Given the description of an element on the screen output the (x, y) to click on. 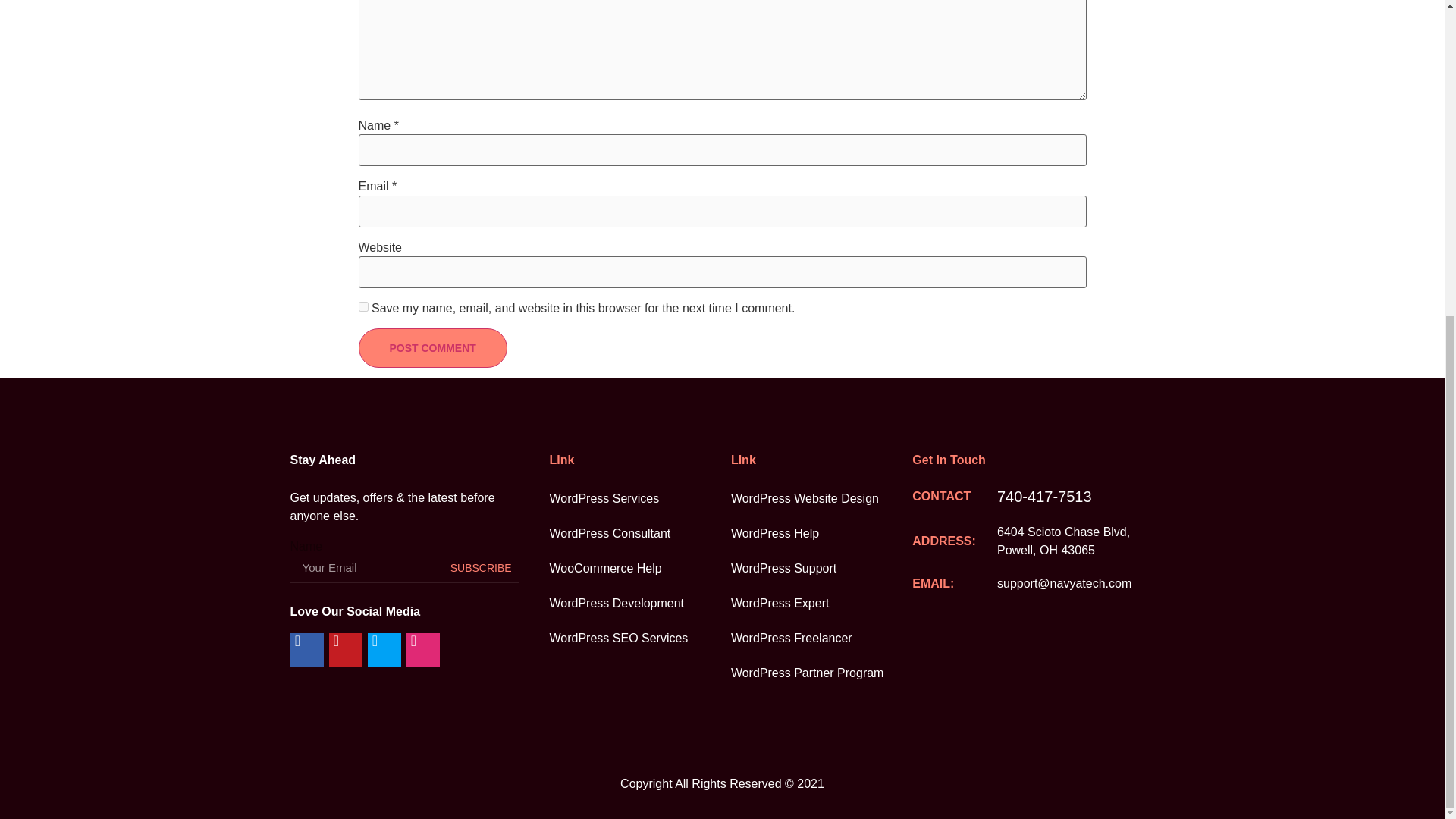
WordPress Services (639, 498)
WordPress Help (821, 533)
yes (363, 307)
WooCommerce Help (639, 568)
WordPress Expert (821, 603)
SUBSCRIBE (480, 567)
WordPress Partner Program (821, 673)
Post Comment (432, 347)
WordPress Freelancer (821, 638)
Post Comment (432, 347)
WordPress Support (821, 568)
WordPress SEO Services (639, 638)
WordPress Website Design (821, 498)
WordPress Development (639, 603)
WordPress Consultant (639, 533)
